Given the description of an element on the screen output the (x, y) to click on. 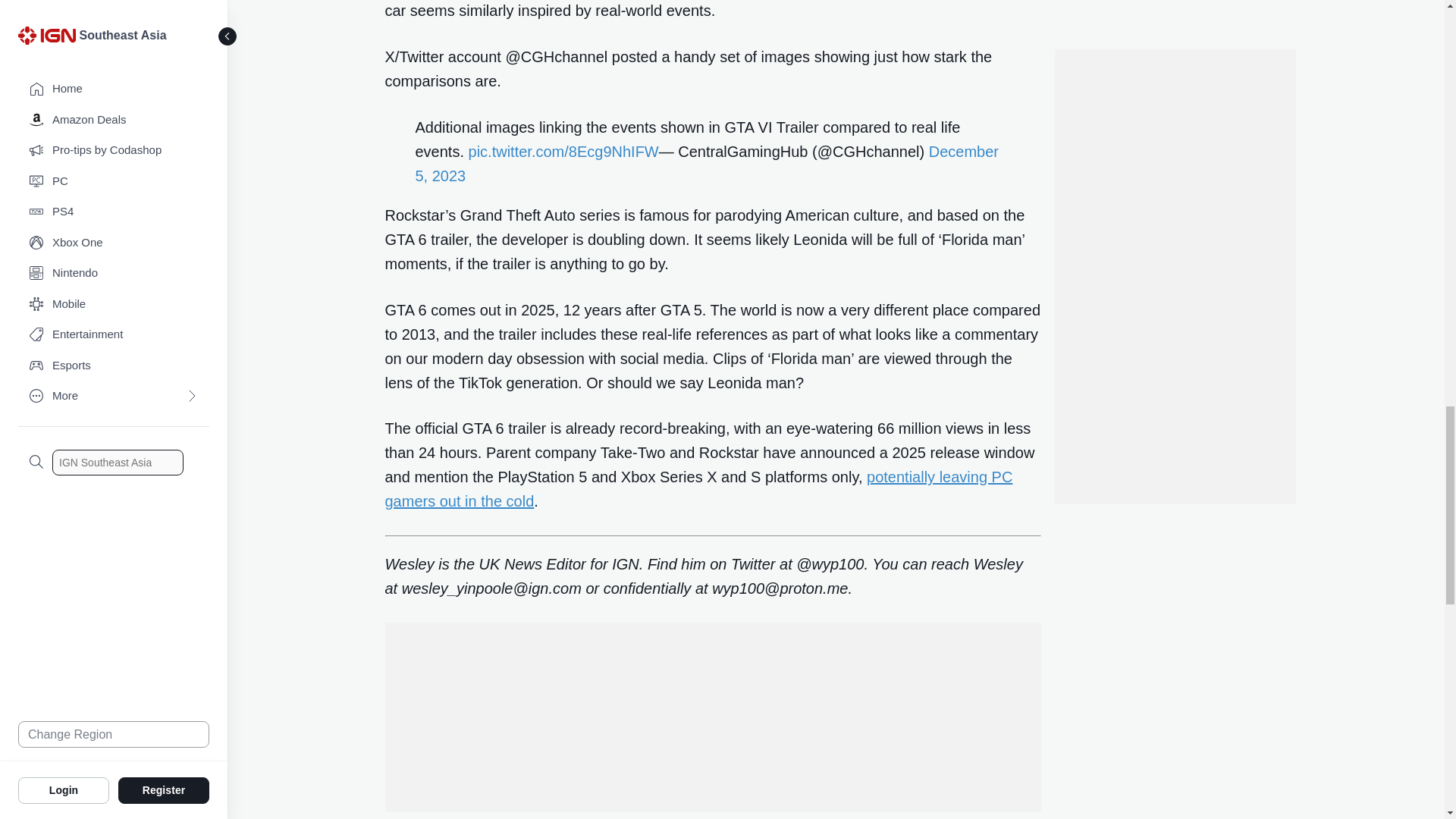
3rd party ad content (713, 717)
